Given the description of an element on the screen output the (x, y) to click on. 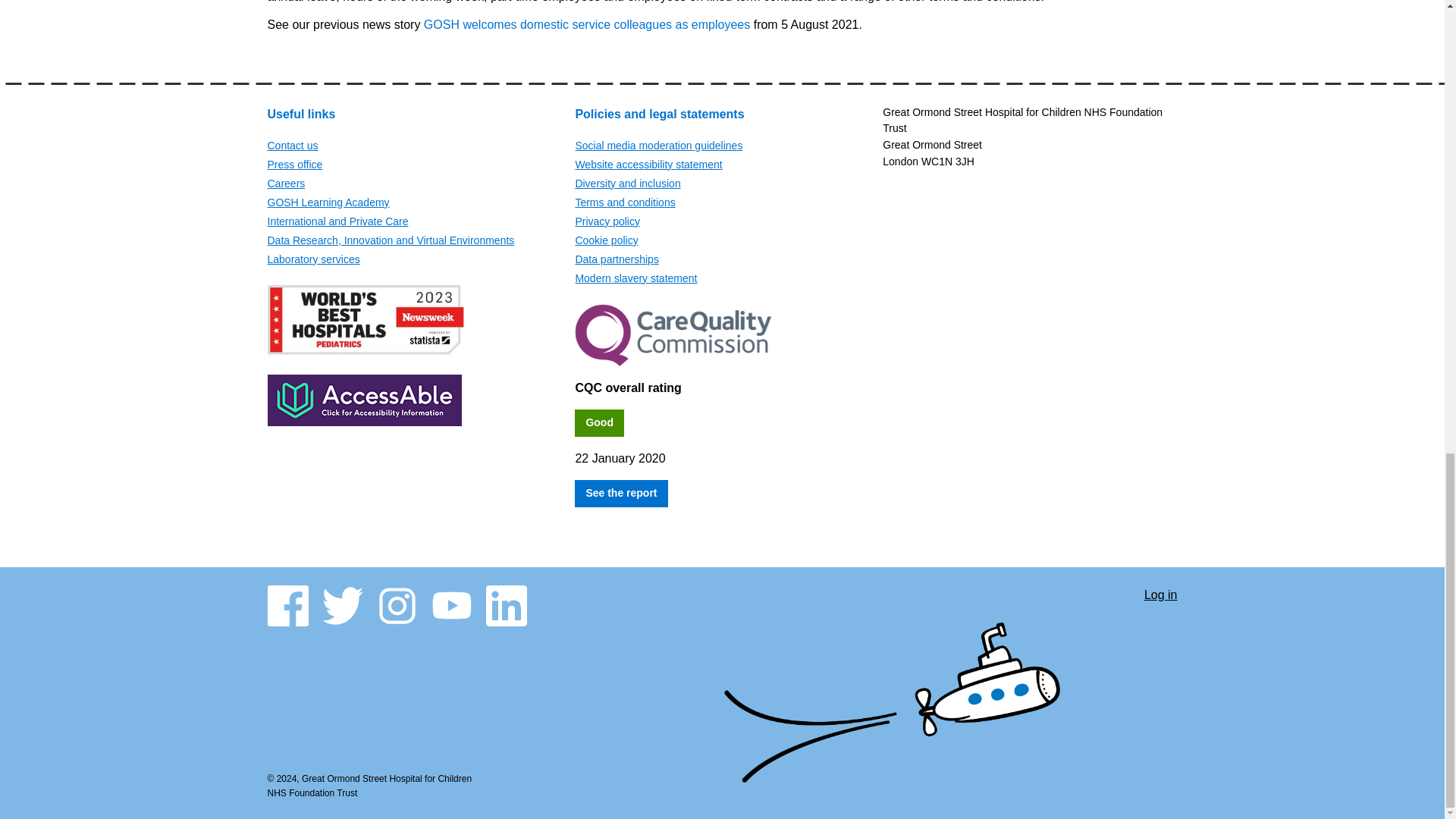
Follow us on Instagram (395, 605)
Follow us on Youtube (450, 605)
Follow us on Facebook (286, 605)
Follow us on Twitter (341, 605)
Follow us on Linkedin (504, 605)
